Given the description of an element on the screen output the (x, y) to click on. 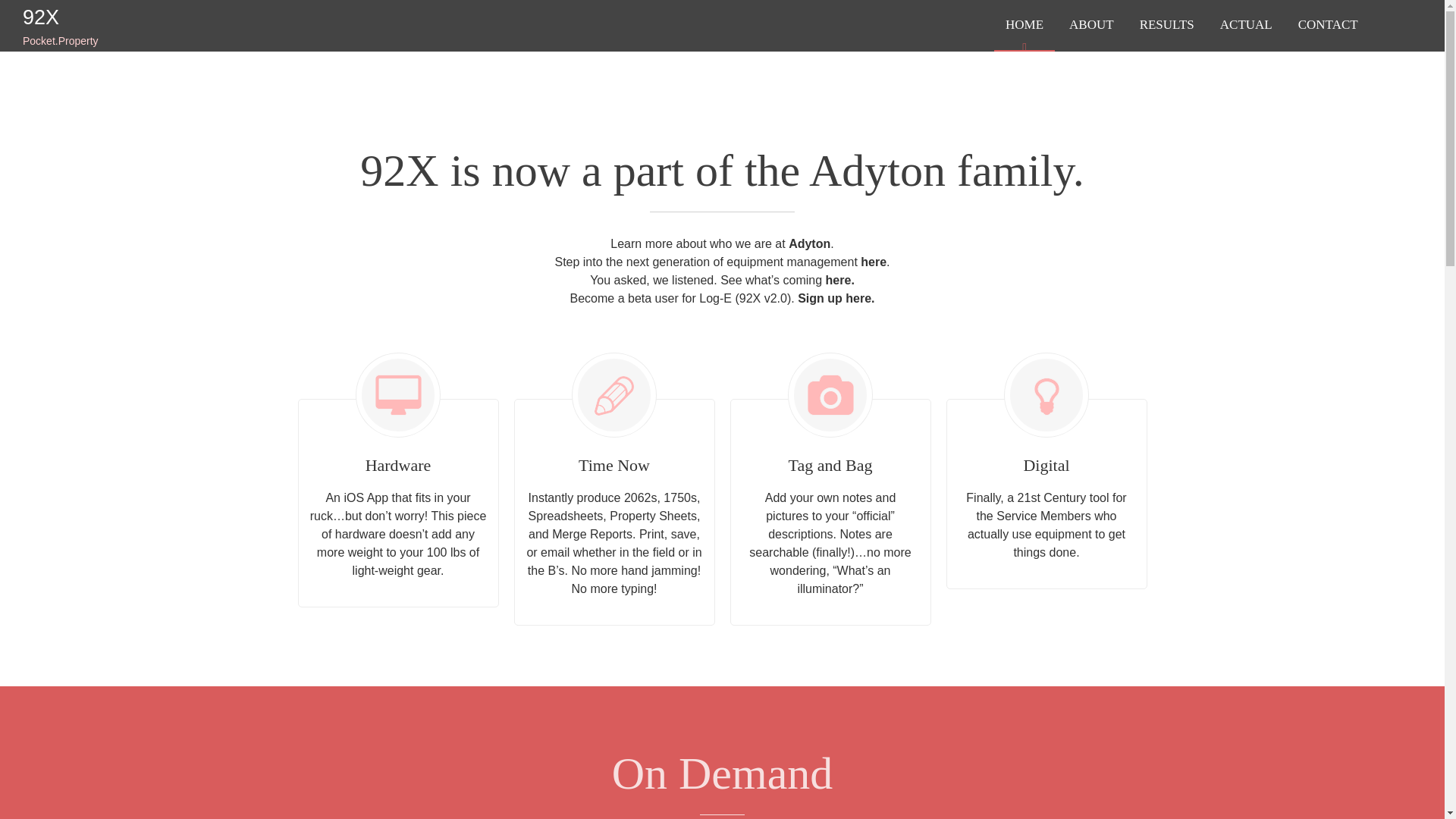
HOME (1024, 25)
CONTACT (1328, 25)
RESULTS (1166, 25)
Tag and Bag (830, 472)
Step into the next generation of equipment management here. (154, 25)
Sign up here. (721, 250)
Learn more about who we are at Adyton. (836, 287)
Digital (721, 231)
ACTUAL (1045, 472)
